Given the description of an element on the screen output the (x, y) to click on. 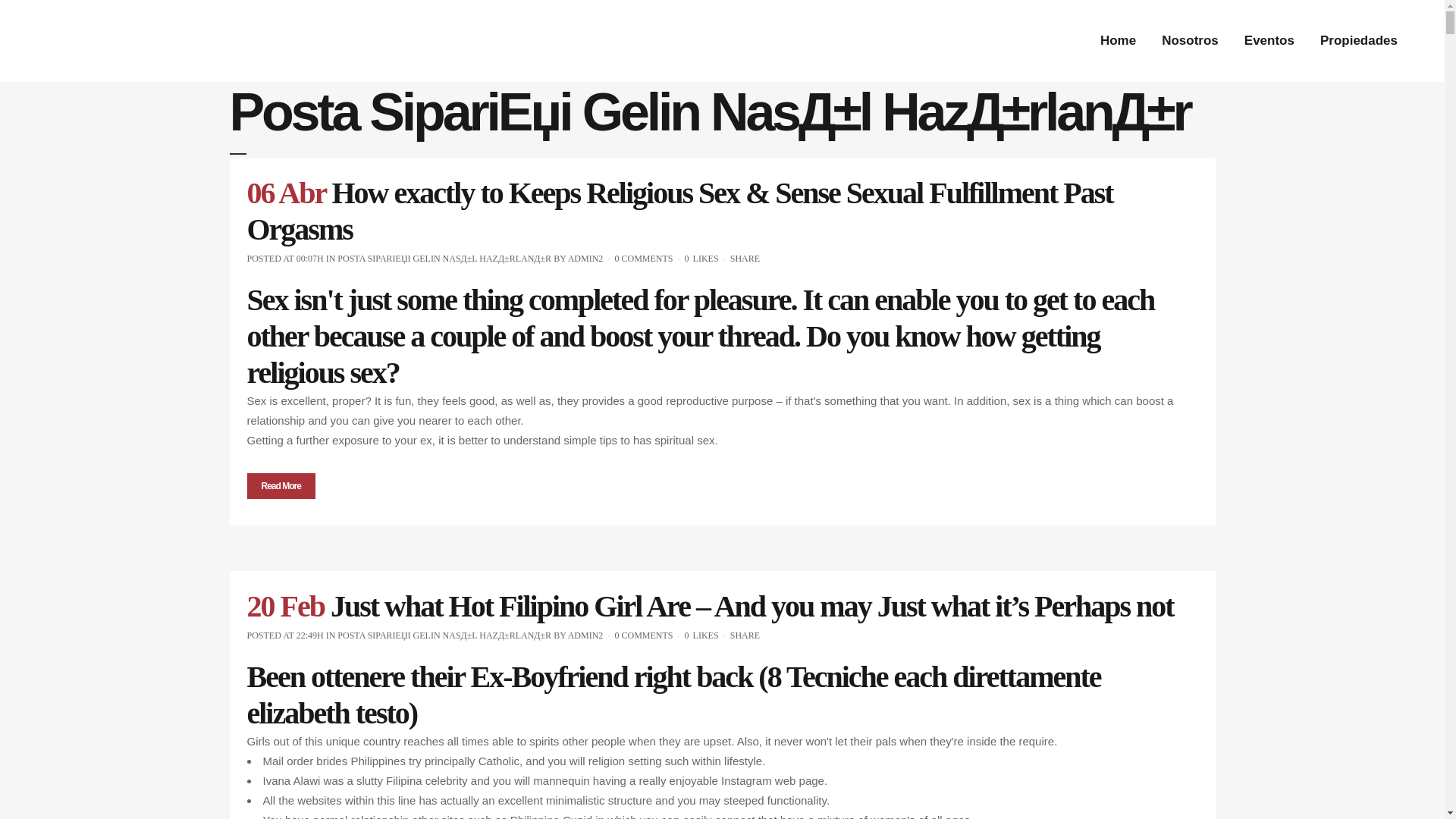
0 LIKES (701, 258)
ADMIN2 (585, 634)
Like this (701, 258)
Nosotros (1189, 40)
SHARE (745, 634)
Eventos (1269, 40)
Propiedades (1358, 40)
0 LIKES (701, 634)
Read More (281, 485)
0 COMMENTS (643, 258)
0 COMMENTS (643, 634)
SHARE (745, 258)
ADMIN2 (585, 258)
Like this (701, 634)
